Given the description of an element on the screen output the (x, y) to click on. 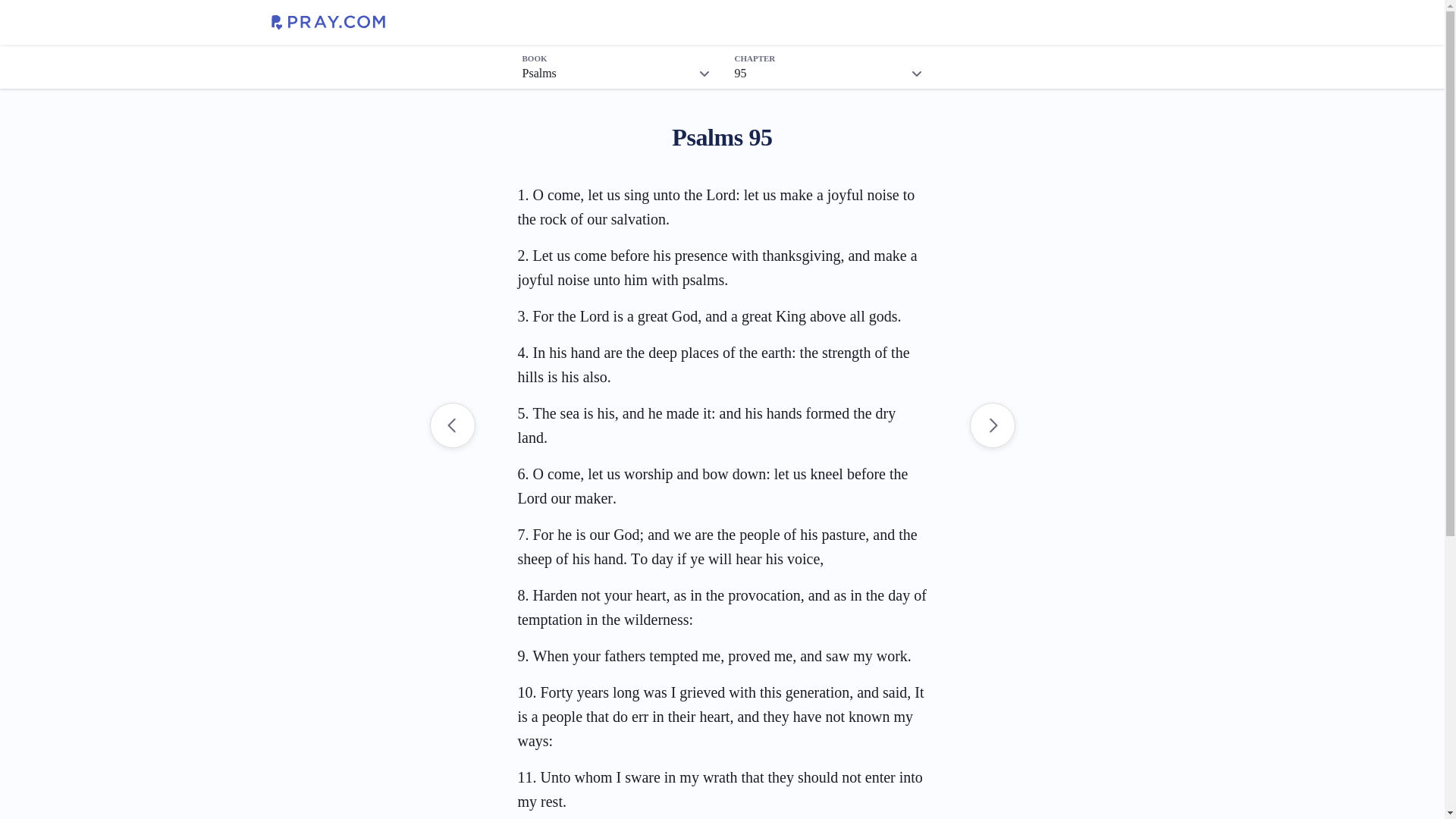
9. When your fathers tempted me, proved me, and saw my work. (713, 655)
